Given the description of an element on the screen output the (x, y) to click on. 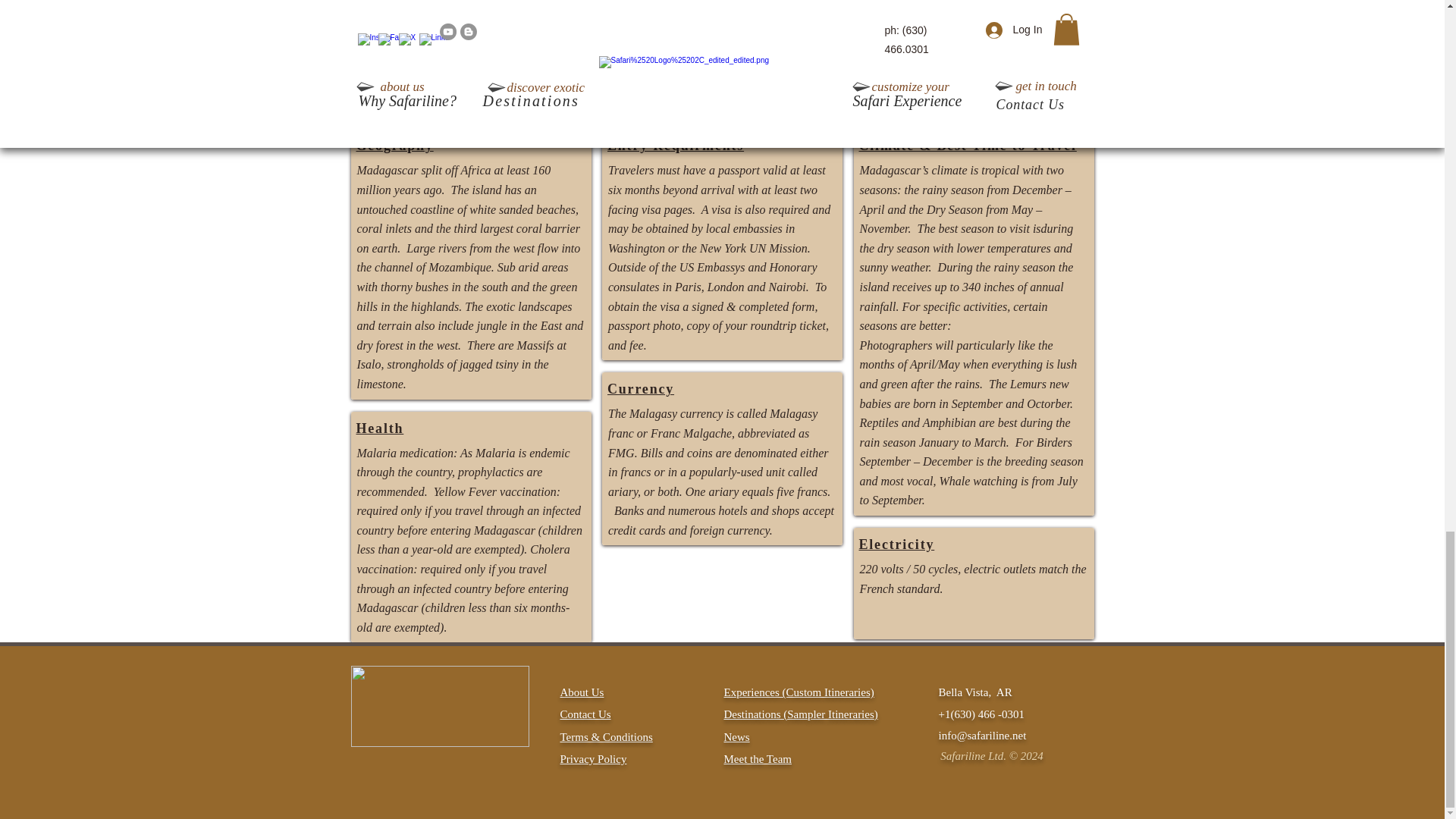
About Us (581, 692)
Contact Us (584, 714)
Meet the Team (756, 758)
Privacy Policy (592, 758)
Bella Vista,  AR (975, 692)
Itineraries (851, 714)
News (736, 736)
